Given the description of an element on the screen output the (x, y) to click on. 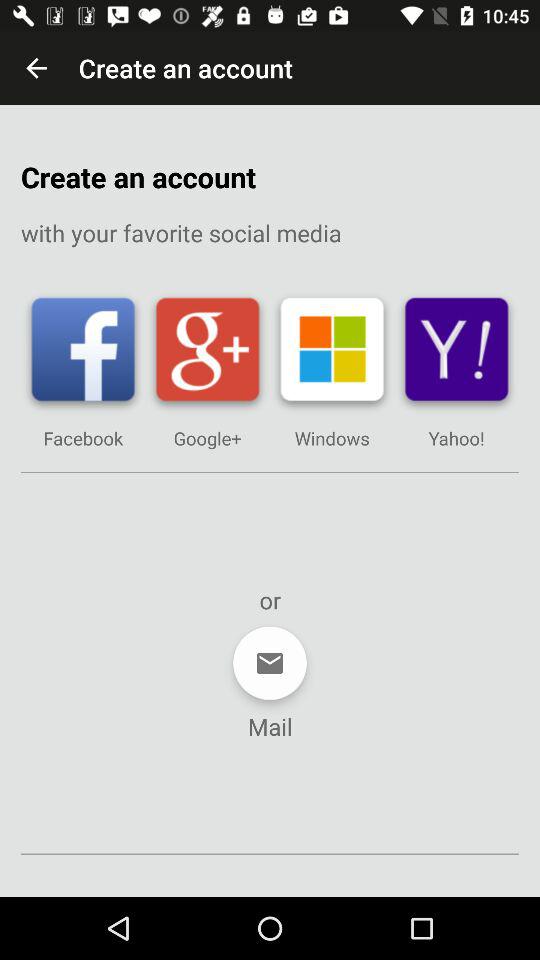
select item below or (269, 663)
